Given the description of an element on the screen output the (x, y) to click on. 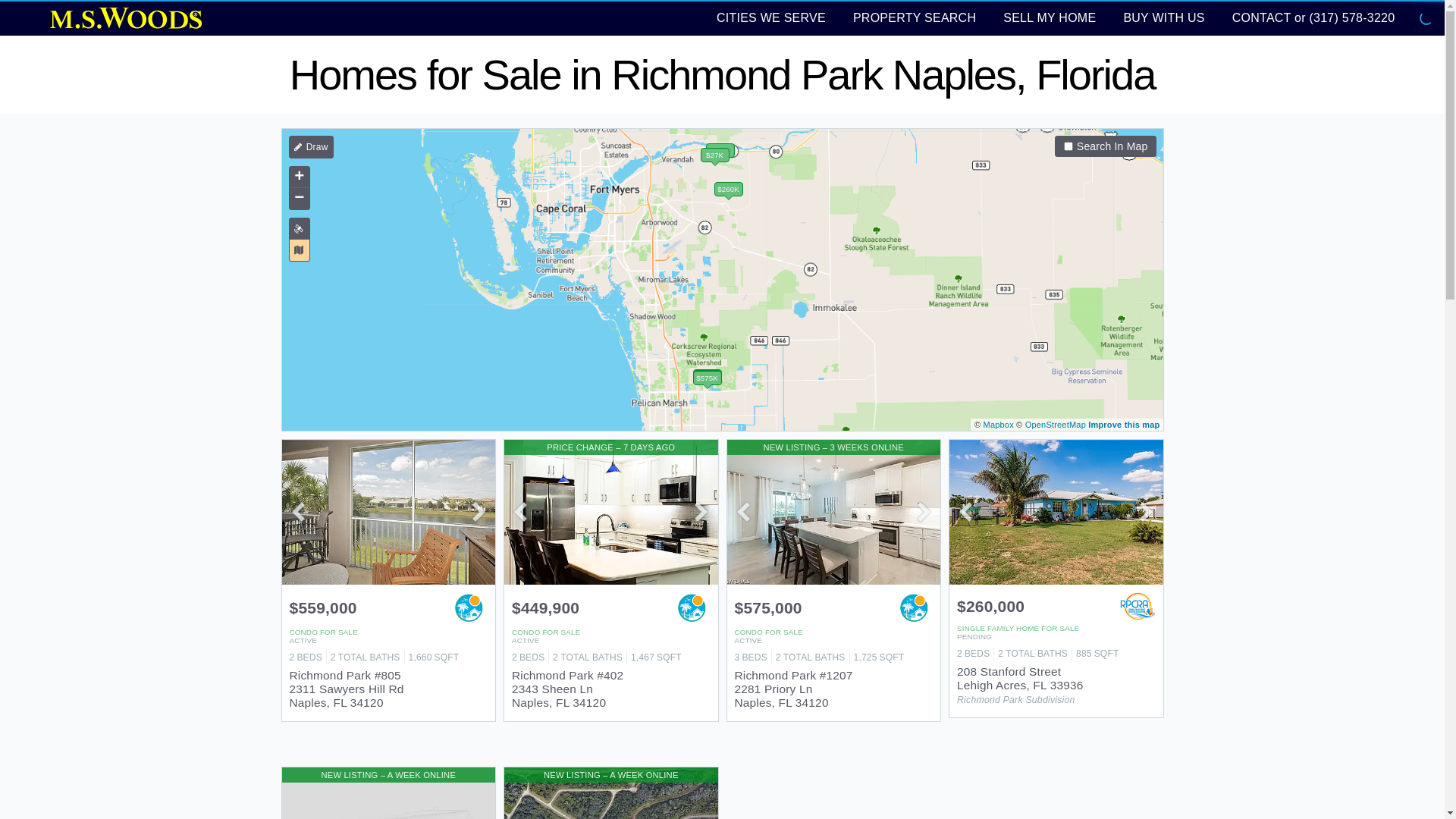
CITIES WE SERVE (770, 17)
PROPERTY SEARCH (914, 17)
OpenStreetMap (1055, 424)
704 Mindora Avenue (389, 793)
Zoom out (298, 198)
SELL MY HOME (1049, 17)
BUY WITH US (1163, 17)
Mapbox (998, 424)
Zoom in (298, 177)
Improve this map (1122, 424)
625 Greenbriar Boulevard (610, 793)
